Given the description of an element on the screen output the (x, y) to click on. 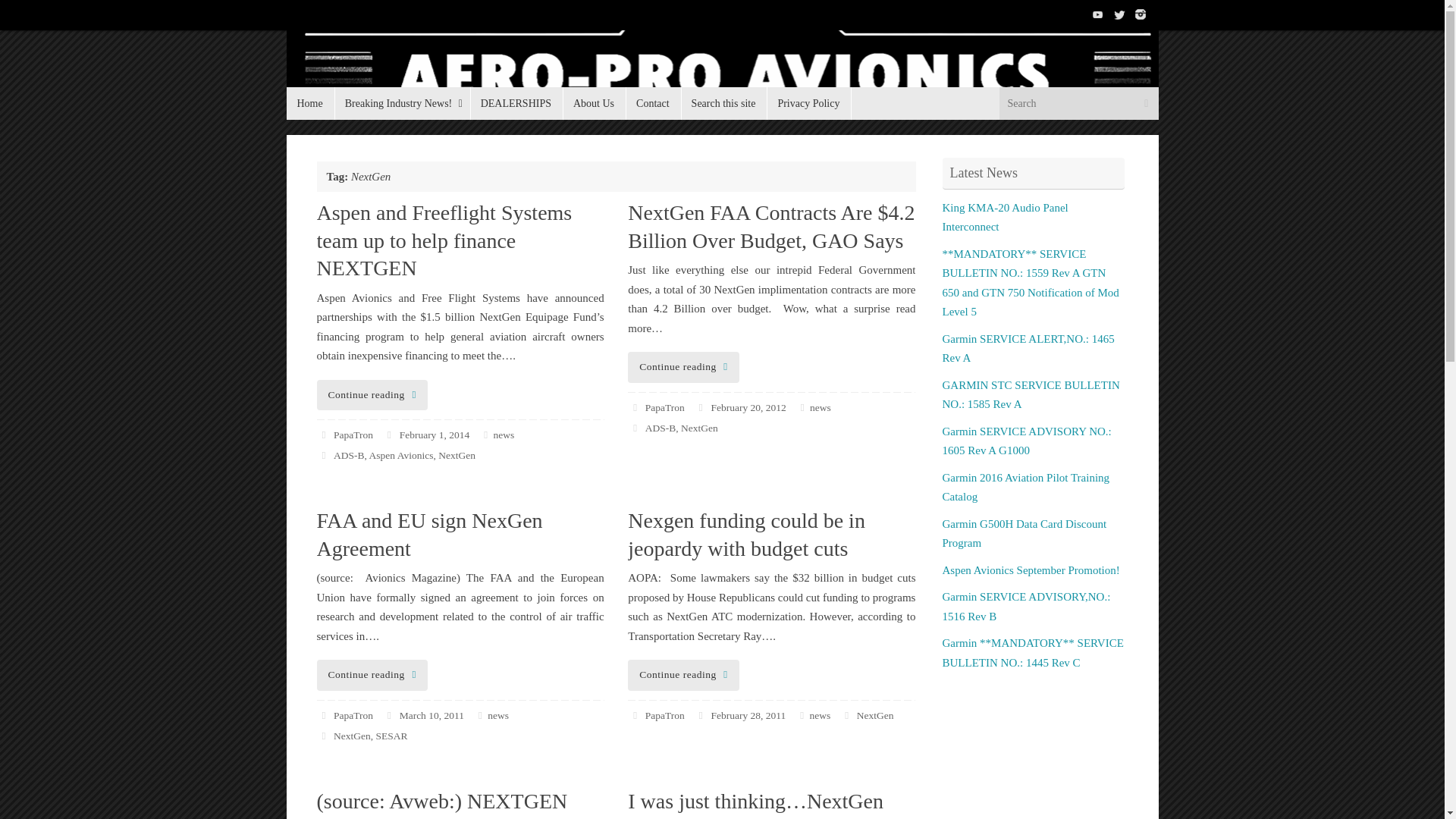
NextGen (457, 455)
Categories (486, 434)
View all posts by PapaTron (664, 407)
Aero-Pro Avionics LLC (722, 75)
SESAR (391, 736)
February 28, 2011 (748, 715)
About Us (594, 102)
February 1, 2014 (434, 434)
Breaking Industry News! (402, 102)
Nexgen funding could be in jeopardy with budget cuts (745, 533)
